Given the description of an element on the screen output the (x, y) to click on. 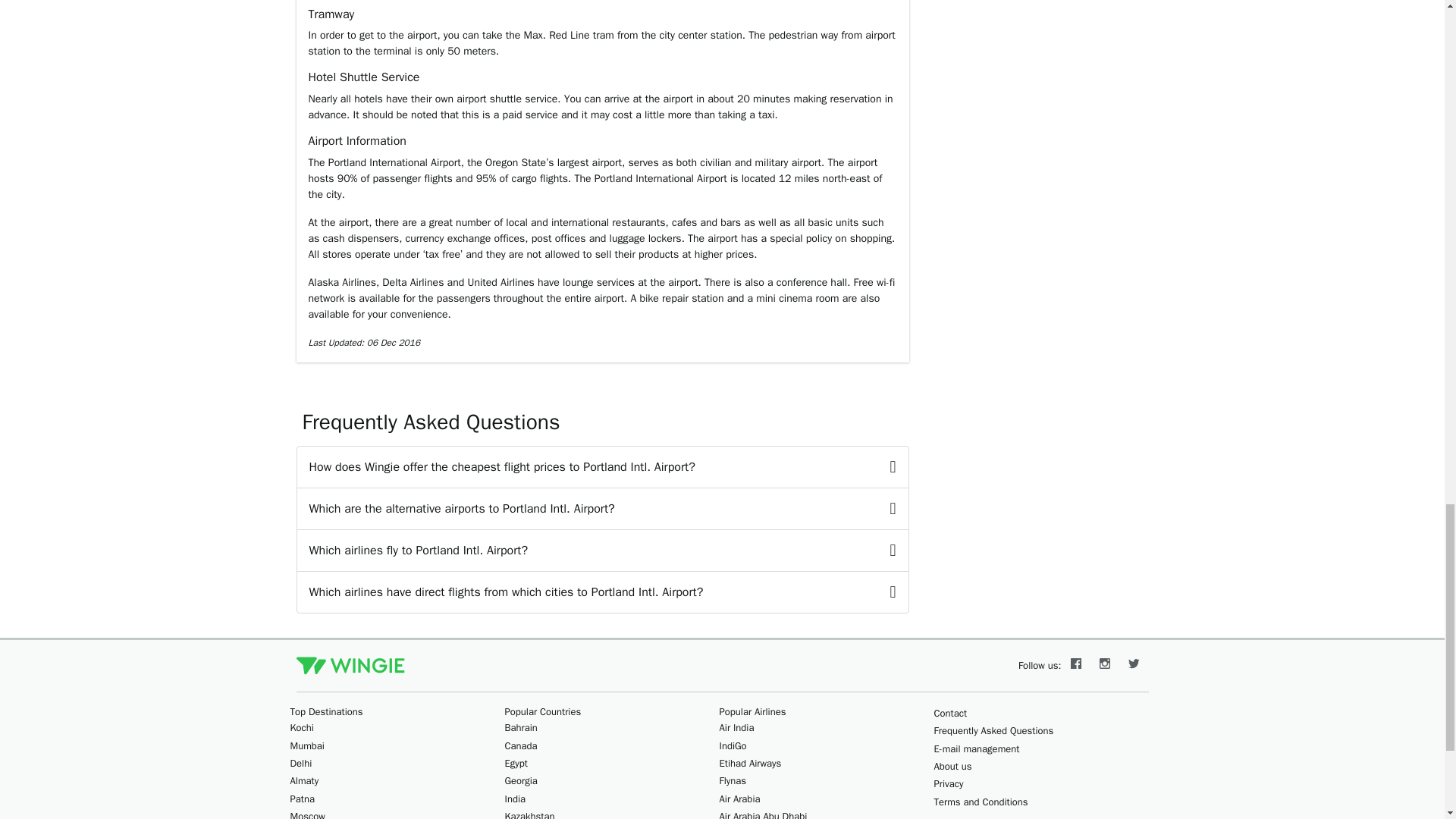
Top Destinations (325, 711)
Canada (521, 745)
Popular Airlines (752, 711)
Top Destinations (325, 711)
India (515, 798)
Kochi (301, 727)
Almaty (303, 780)
Instagram (1104, 665)
Patna (301, 798)
Twitter (1133, 665)
Bahrain (521, 727)
Moscow (306, 814)
Popular Countries (542, 711)
Facebook (1075, 665)
Egypt (516, 762)
